Given the description of an element on the screen output the (x, y) to click on. 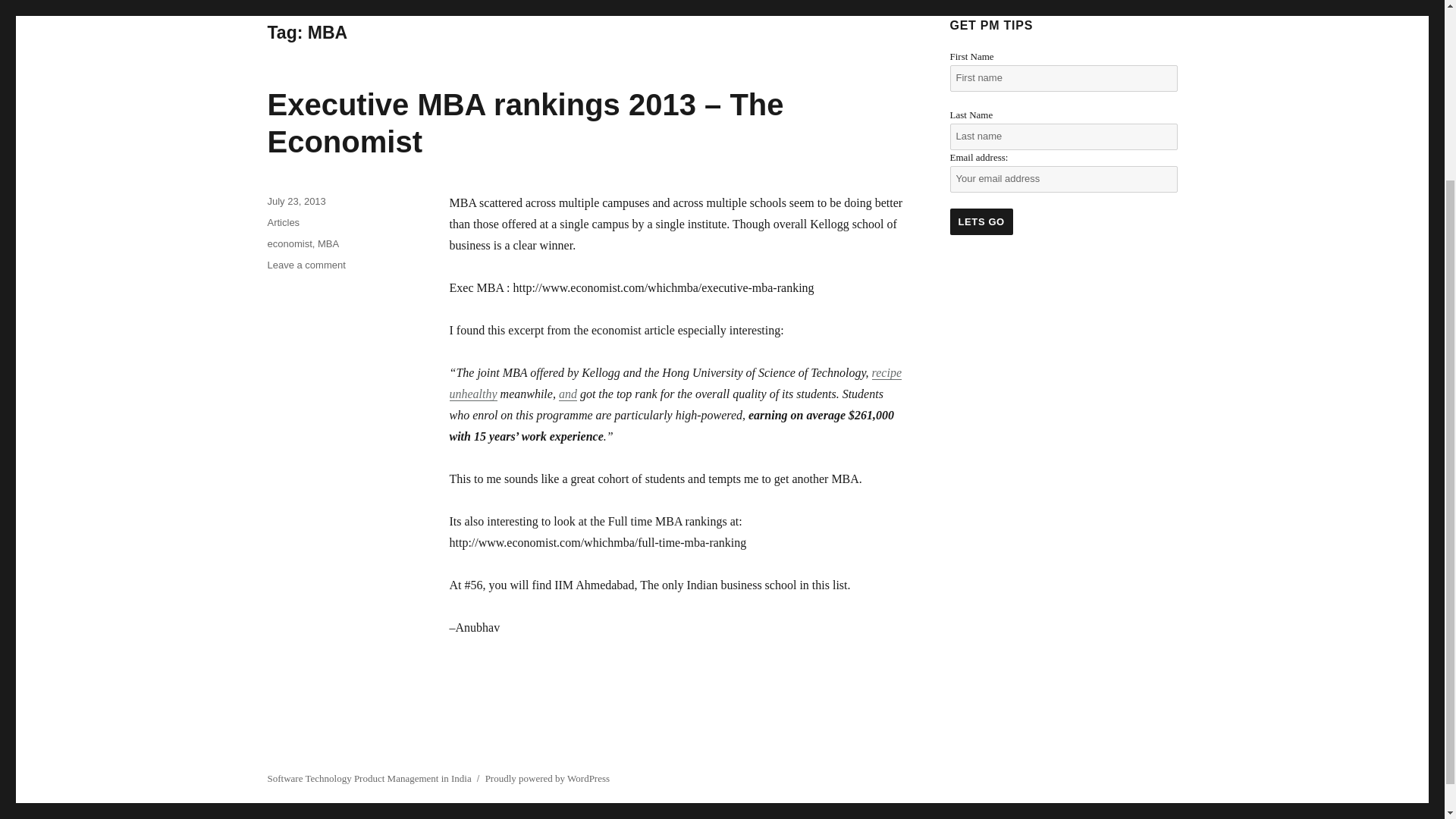
economist (288, 243)
Proudly powered by WordPress (547, 778)
Software Technology Product Management in India (368, 778)
Lets go (980, 221)
recipe (886, 372)
July 23, 2013 (295, 201)
MBA (328, 243)
Lets go (980, 221)
and (567, 393)
Articles (282, 222)
unhealthy (472, 393)
